Given the description of an element on the screen output the (x, y) to click on. 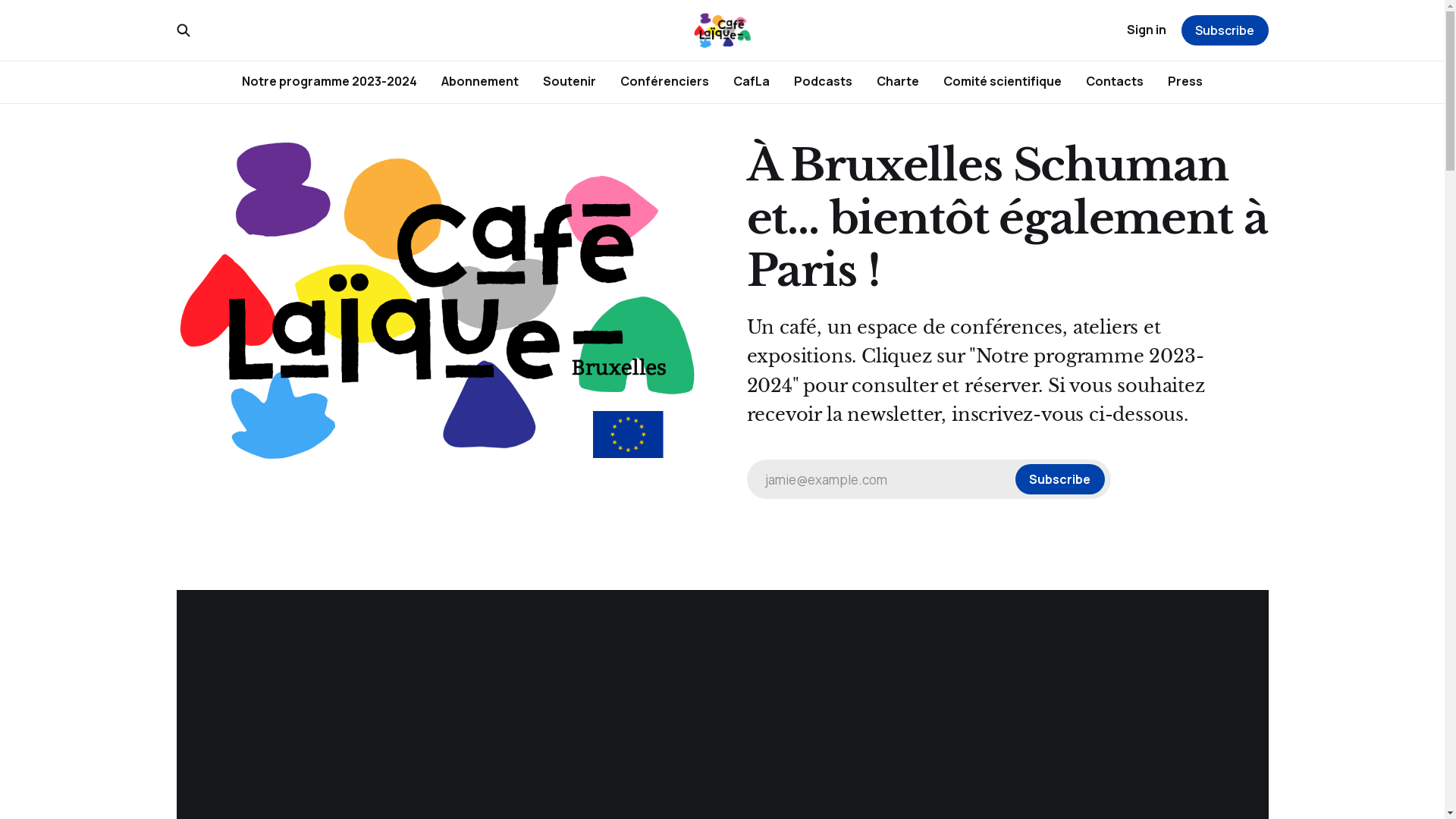
Soutenir Element type: text (569, 80)
Contacts Element type: text (1114, 80)
Subscribe Element type: text (1224, 30)
CafLa Element type: text (751, 80)
Abonnement Element type: text (479, 80)
Charte Element type: text (897, 80)
Notre programme 2023-2024 Element type: text (329, 80)
Press Element type: text (1184, 80)
Sign in Element type: text (1146, 30)
Podcasts Element type: text (822, 80)
